Given the description of an element on the screen output the (x, y) to click on. 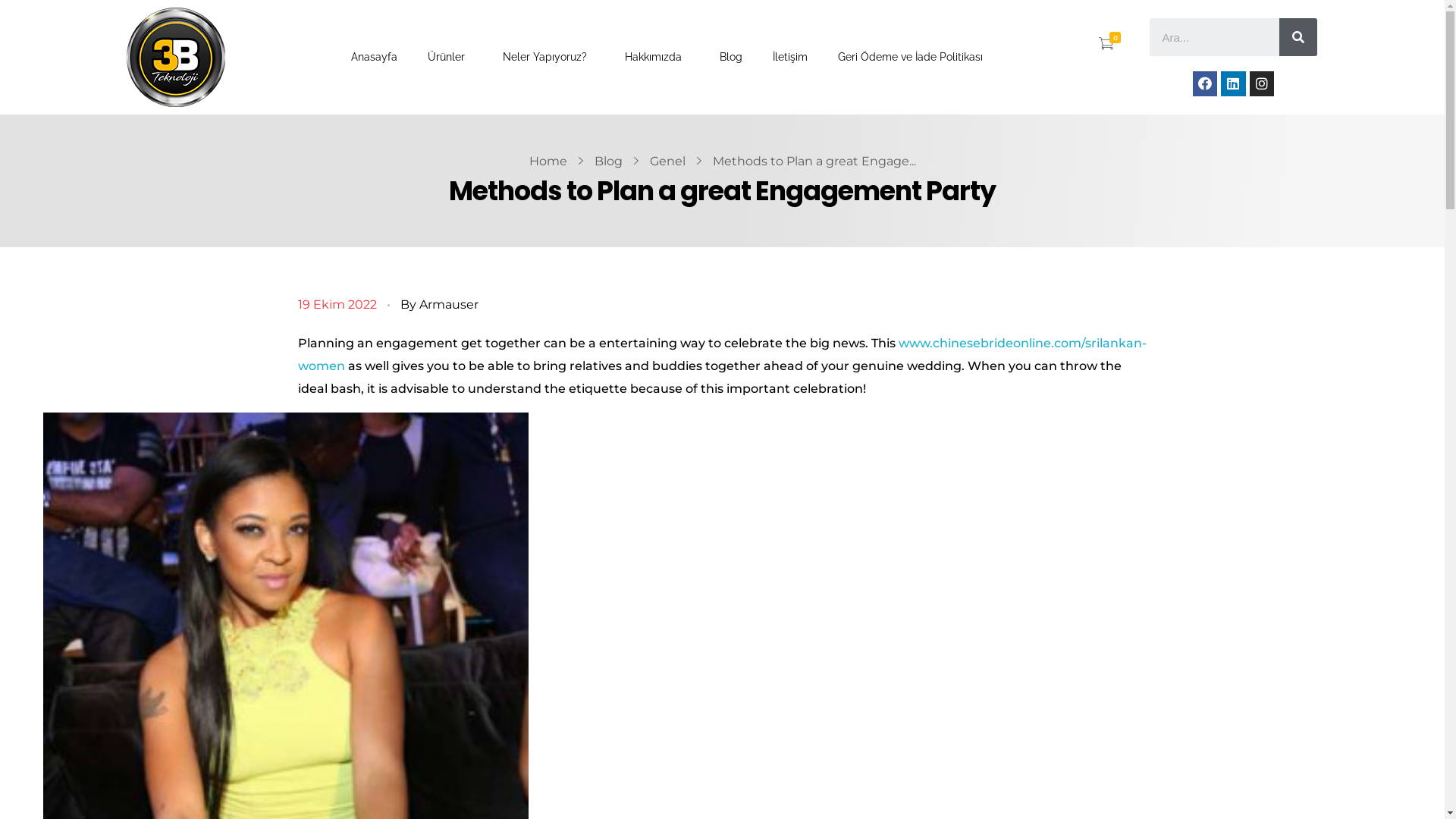
www.chinesebrideonline.com/srilankan-women Element type: text (721, 354)
0 Element type: text (1105, 44)
Armauser Element type: text (447, 304)
Genel Element type: text (666, 160)
Home Element type: text (548, 160)
Anasayfa Element type: text (373, 57)
Ara Element type: hover (1298, 37)
Ara Element type: hover (1214, 37)
Blog Element type: text (730, 57)
Blog Element type: text (608, 160)
